Given the description of an element on the screen output the (x, y) to click on. 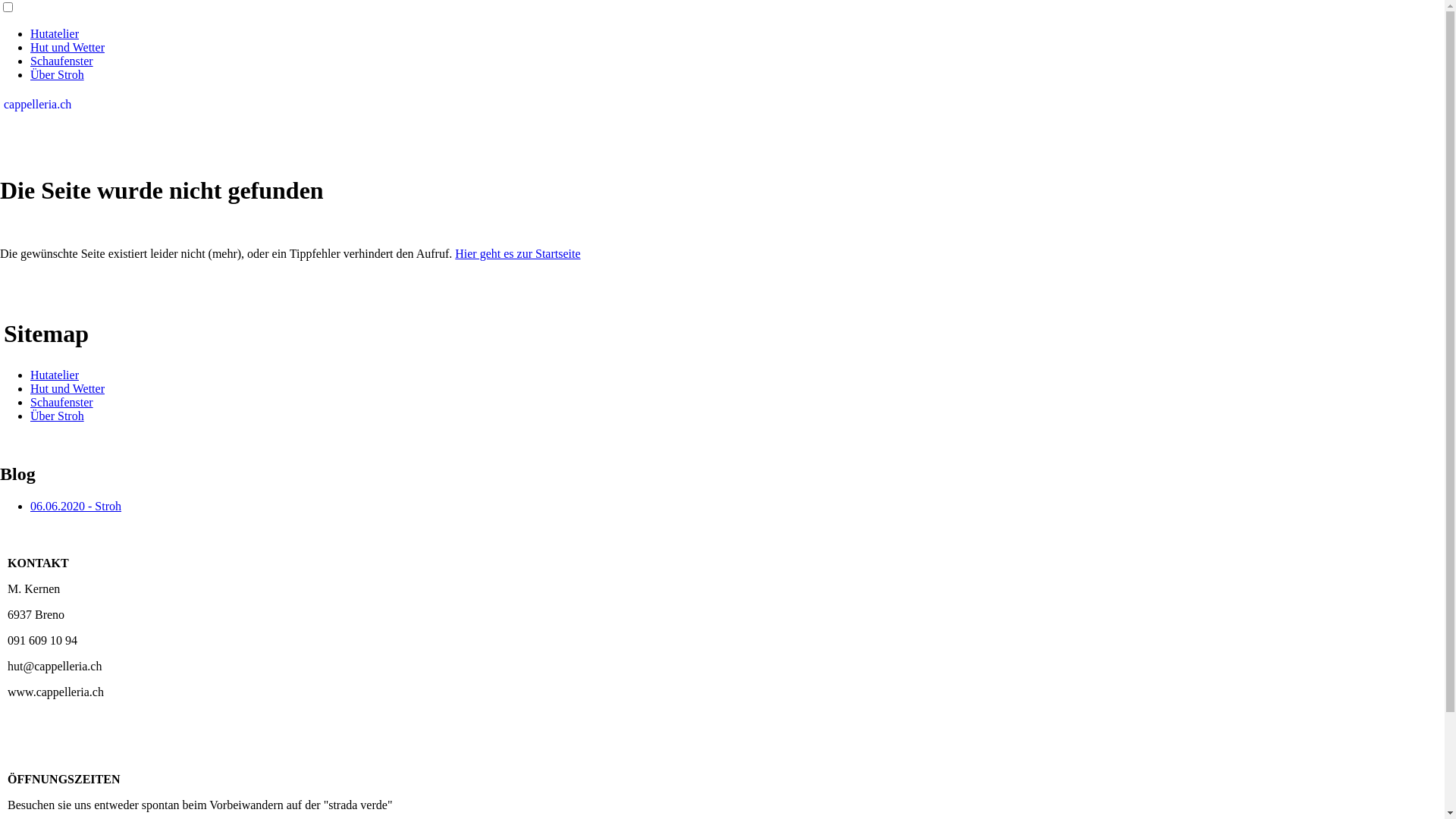
Hut und Wetter Element type: text (67, 388)
Hier geht es zur Startseite Element type: text (517, 253)
Schaufenster Element type: text (61, 401)
cappelleria.ch Element type: text (37, 103)
Schaufenster Element type: text (61, 60)
06.06.2020 - Stroh Element type: text (75, 505)
Hutatelier Element type: text (54, 33)
Hutatelier Element type: text (54, 374)
Hut und Wetter Element type: text (67, 46)
